Given the description of an element on the screen output the (x, y) to click on. 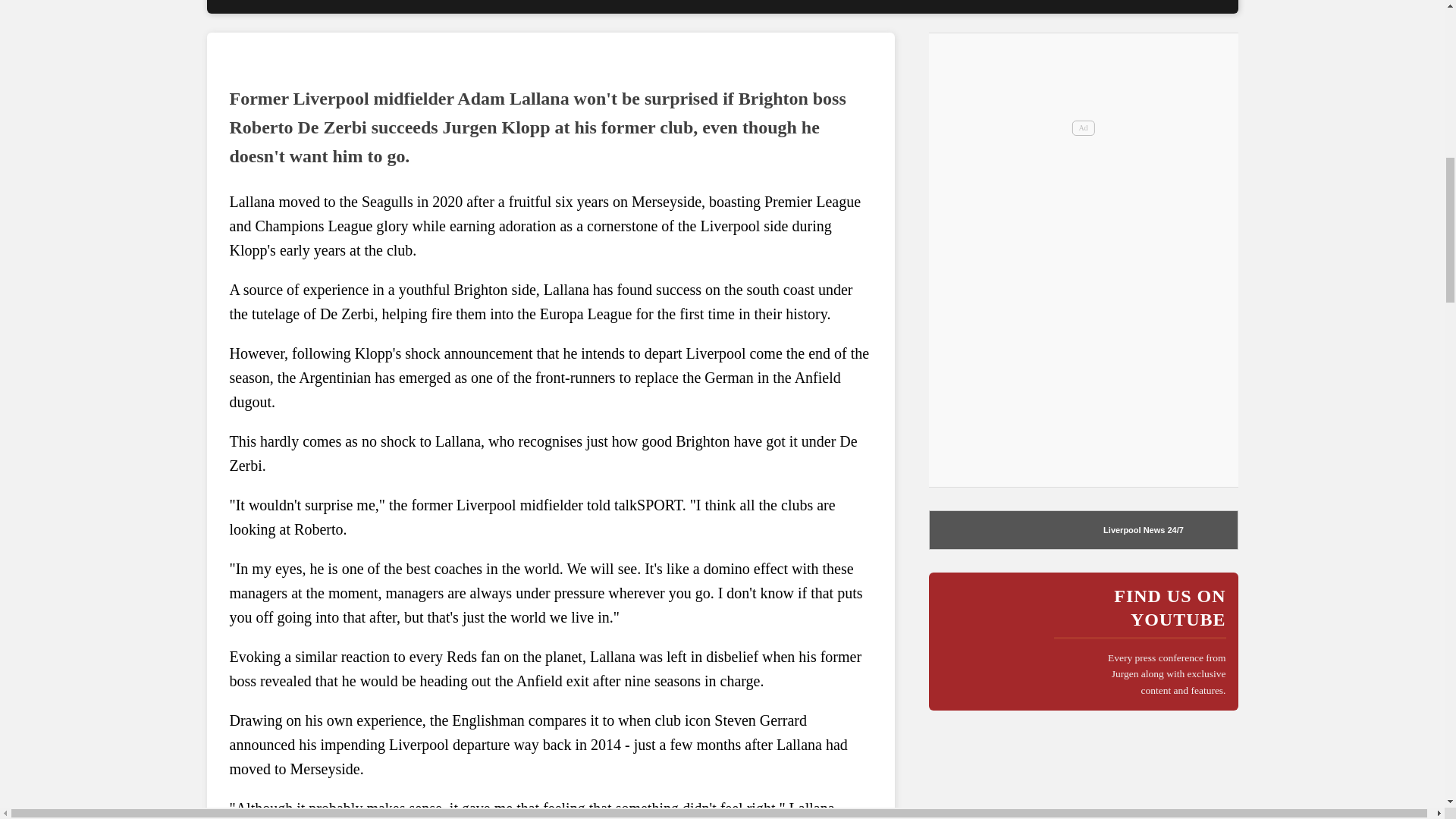
Click here for more Liverpool news from NewsNow (1173, 529)
Click here for more Liverpool news from NewsNow (1133, 529)
Click here for more Liverpool news from NewsNow (990, 529)
